Given the description of an element on the screen output the (x, y) to click on. 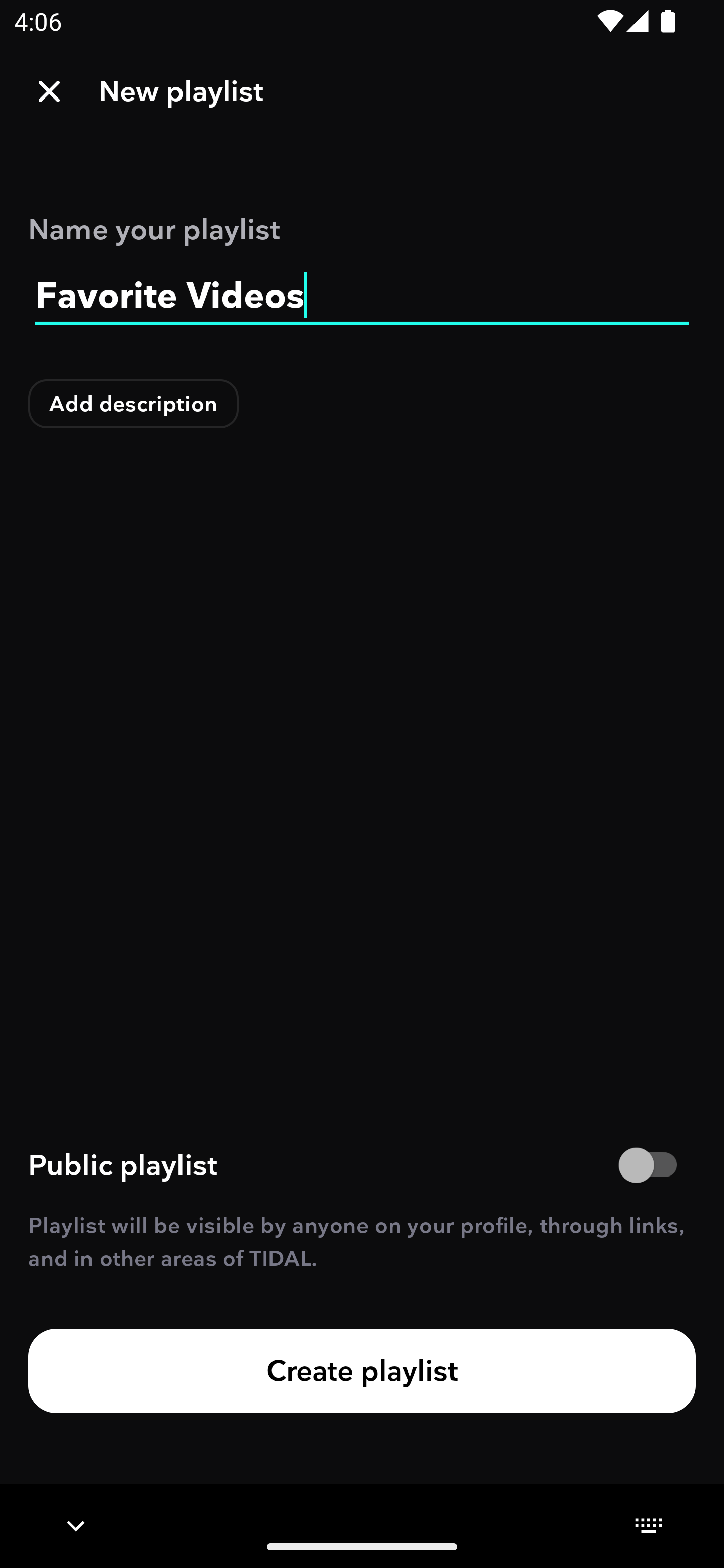
Back (49, 91)
Favorite Videos (361, 295)
Add description (133, 403)
Create playlist (361, 1370)
